Given the description of an element on the screen output the (x, y) to click on. 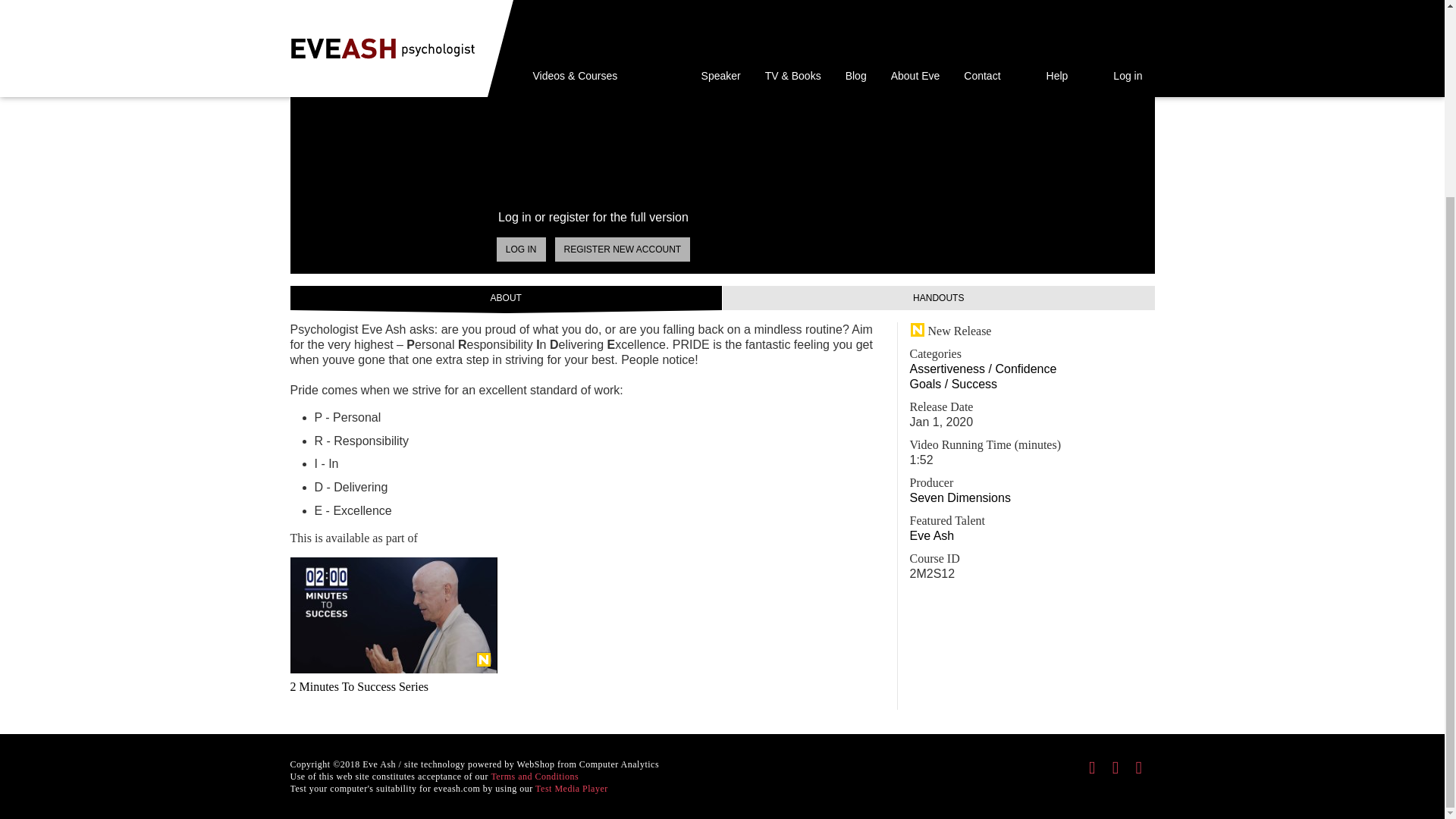
LOG IN (521, 249)
ABOUT (505, 297)
Eve Ash (932, 535)
New Release (950, 330)
Test Media Player (571, 538)
New Release (484, 659)
HANDOUTS (938, 297)
Seven Dimensions (960, 497)
Terms and Conditions (534, 526)
REGISTER NEW ACCOUNT (622, 249)
